Given the description of an element on the screen output the (x, y) to click on. 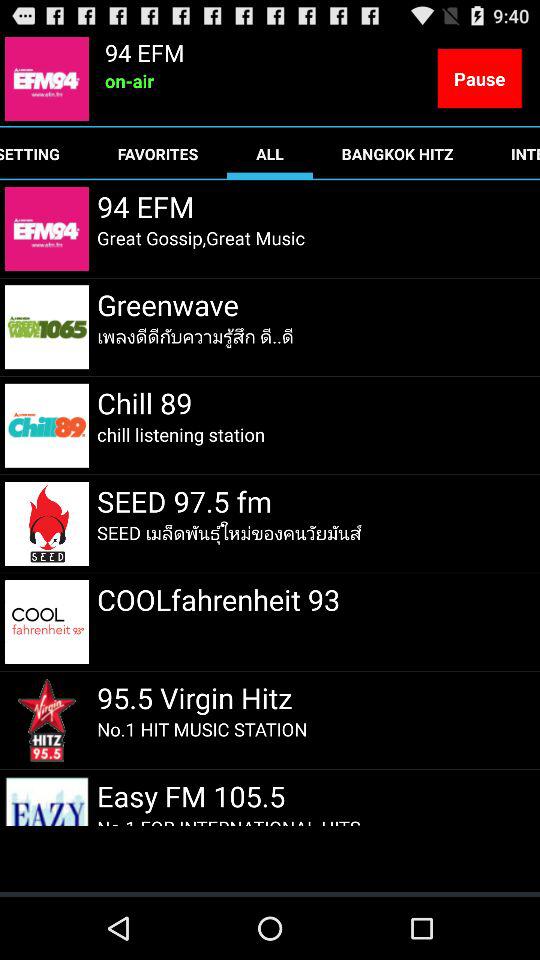
choose chill listening station (181, 434)
